Given the description of an element on the screen output the (x, y) to click on. 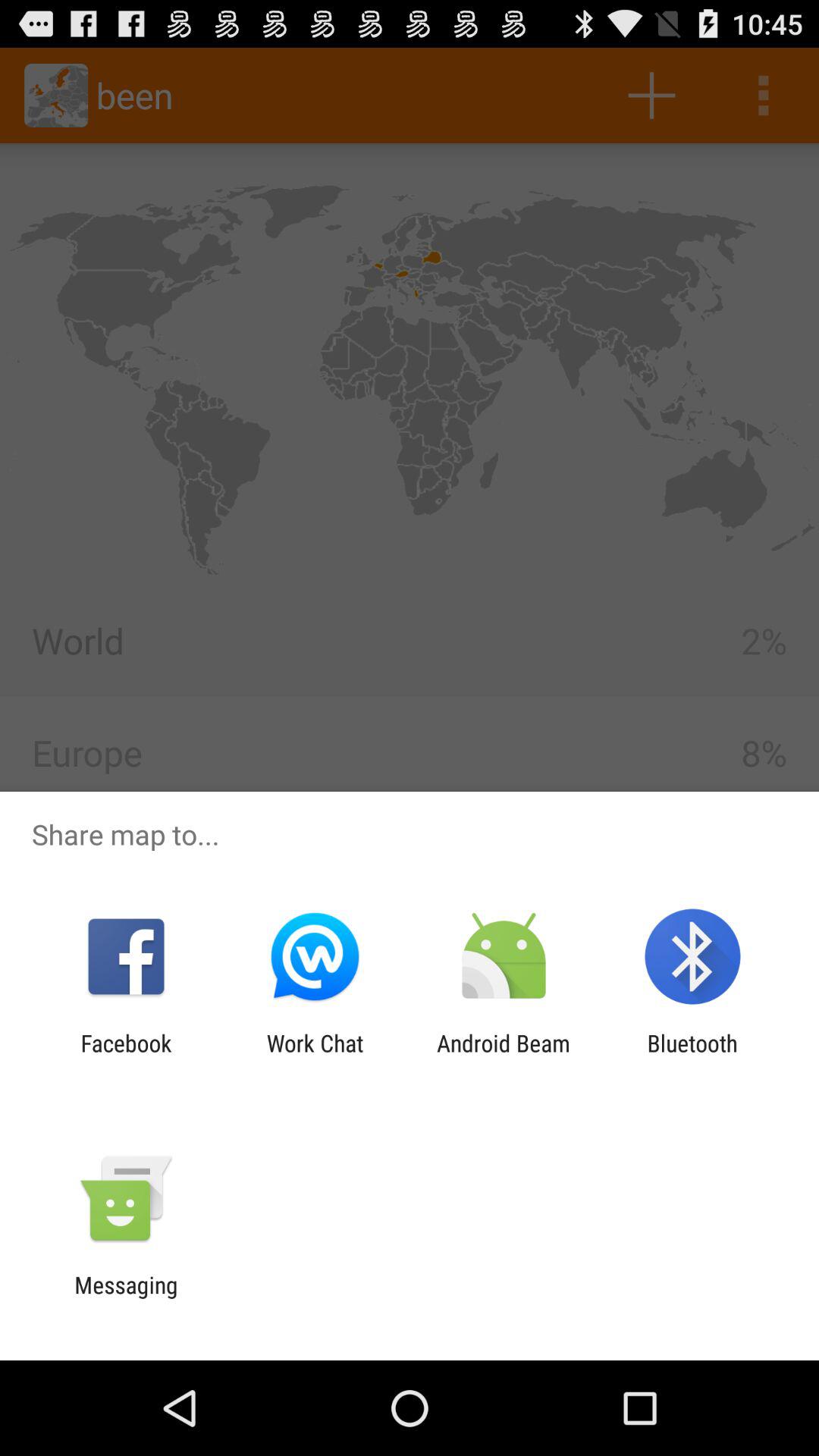
press android beam icon (503, 1056)
